Given the description of an element on the screen output the (x, y) to click on. 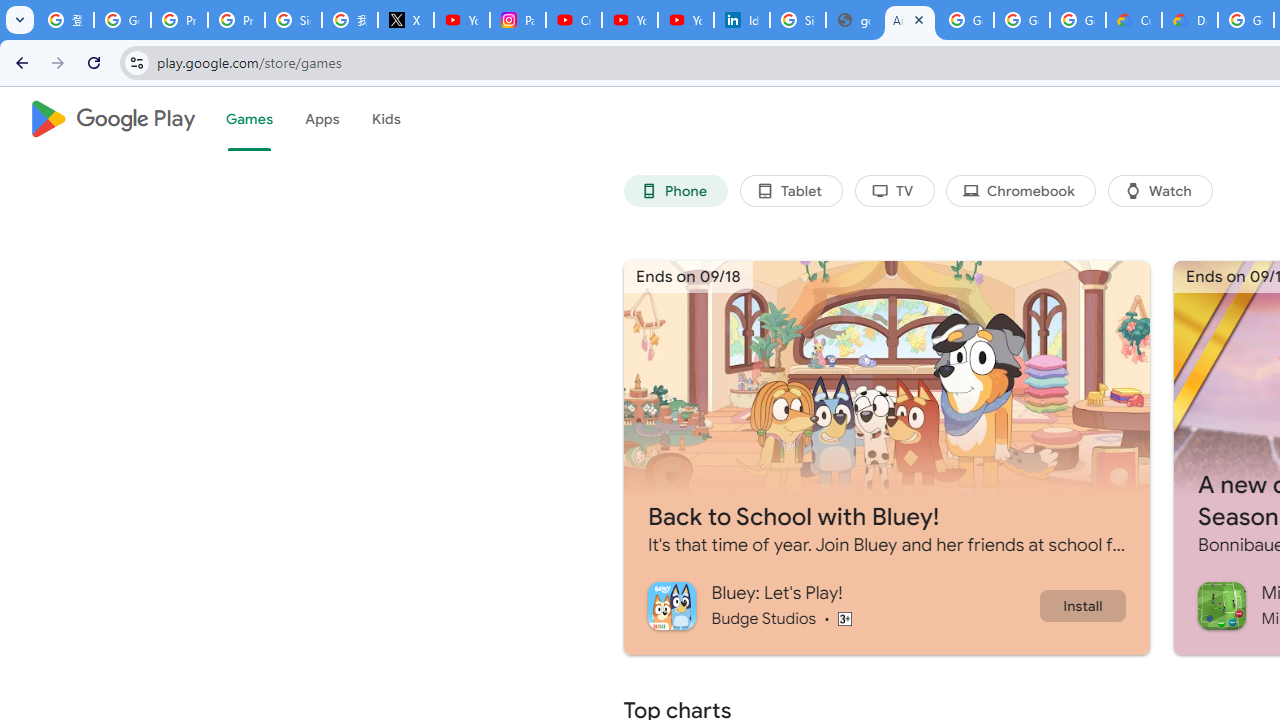
Chromebook (1020, 190)
Privacy Help Center - Policies Help (179, 20)
Watch (1160, 190)
Sign in - Google Accounts (293, 20)
TV (893, 190)
Tablet (790, 190)
Android Apps on Google Play (909, 20)
YouTube Culture & Trends - YouTube Top 10, 2021 (685, 20)
